Given the description of an element on the screen output the (x, y) to click on. 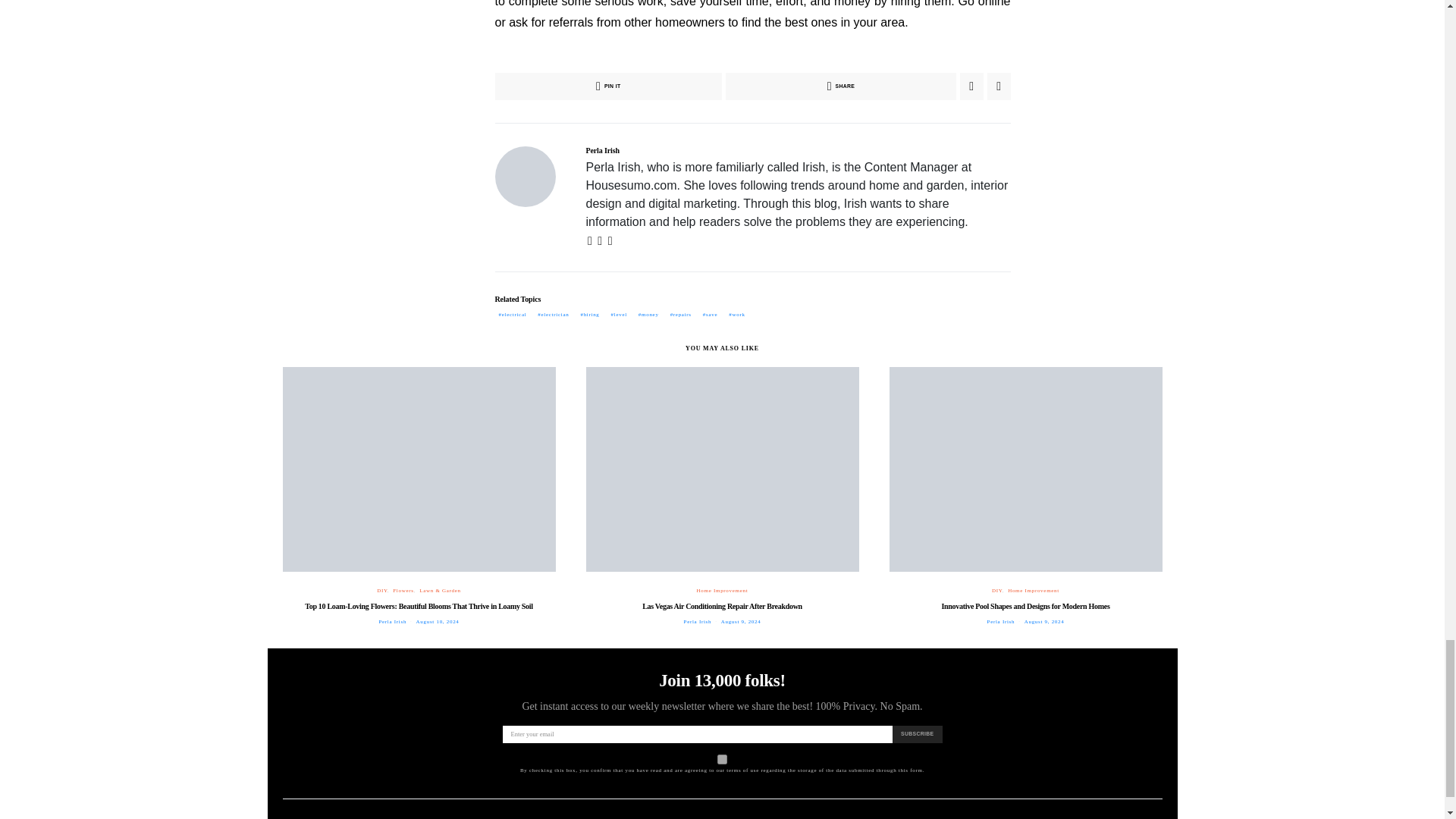
on (722, 759)
View all posts by Perla Irish (697, 621)
View all posts by Perla Irish (392, 621)
View all posts by Perla Irish (1000, 621)
